Given the description of an element on the screen output the (x, y) to click on. 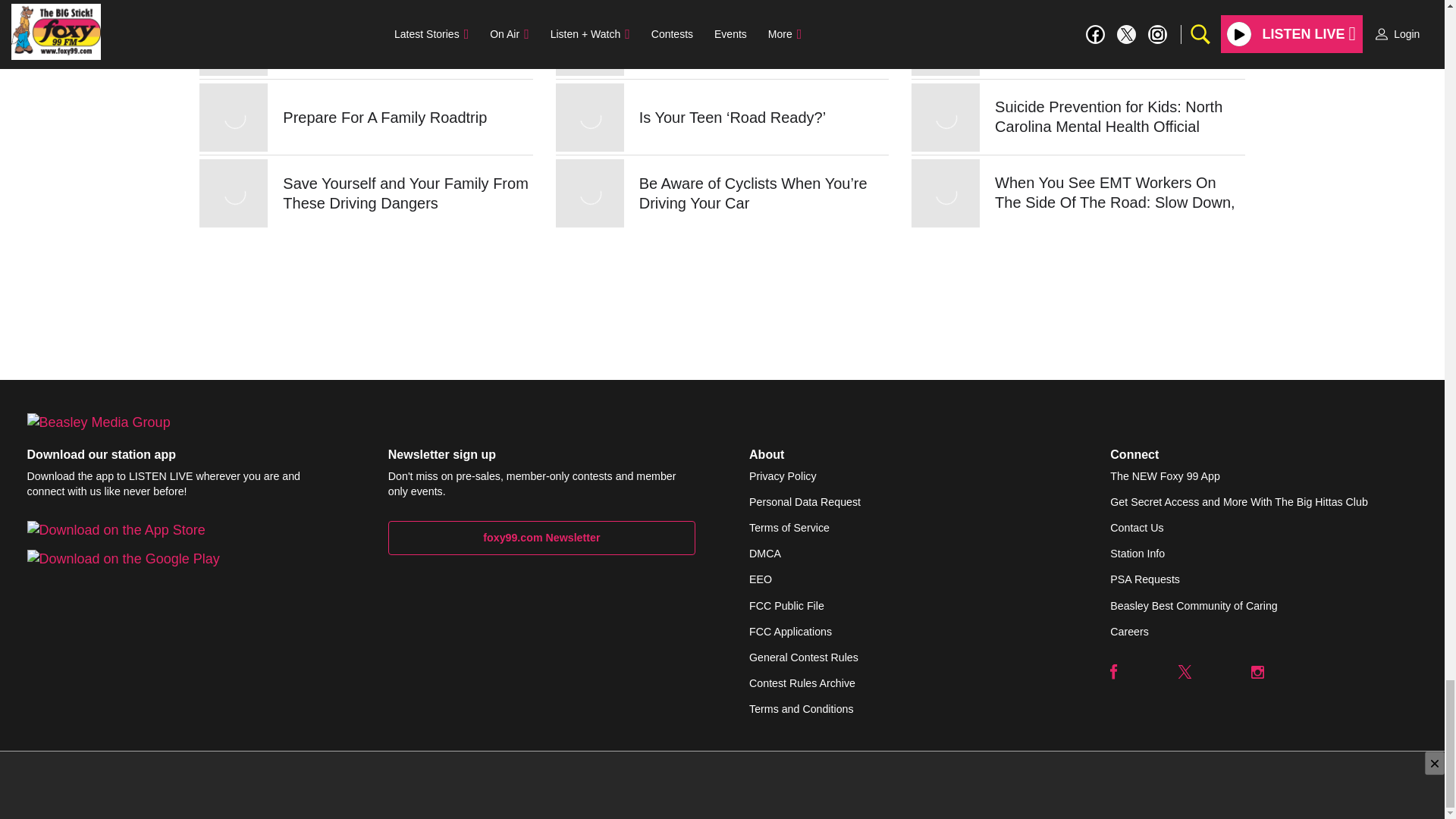
Instagram (1256, 671)
Twitter (1184, 671)
